Given the description of an element on the screen output the (x, y) to click on. 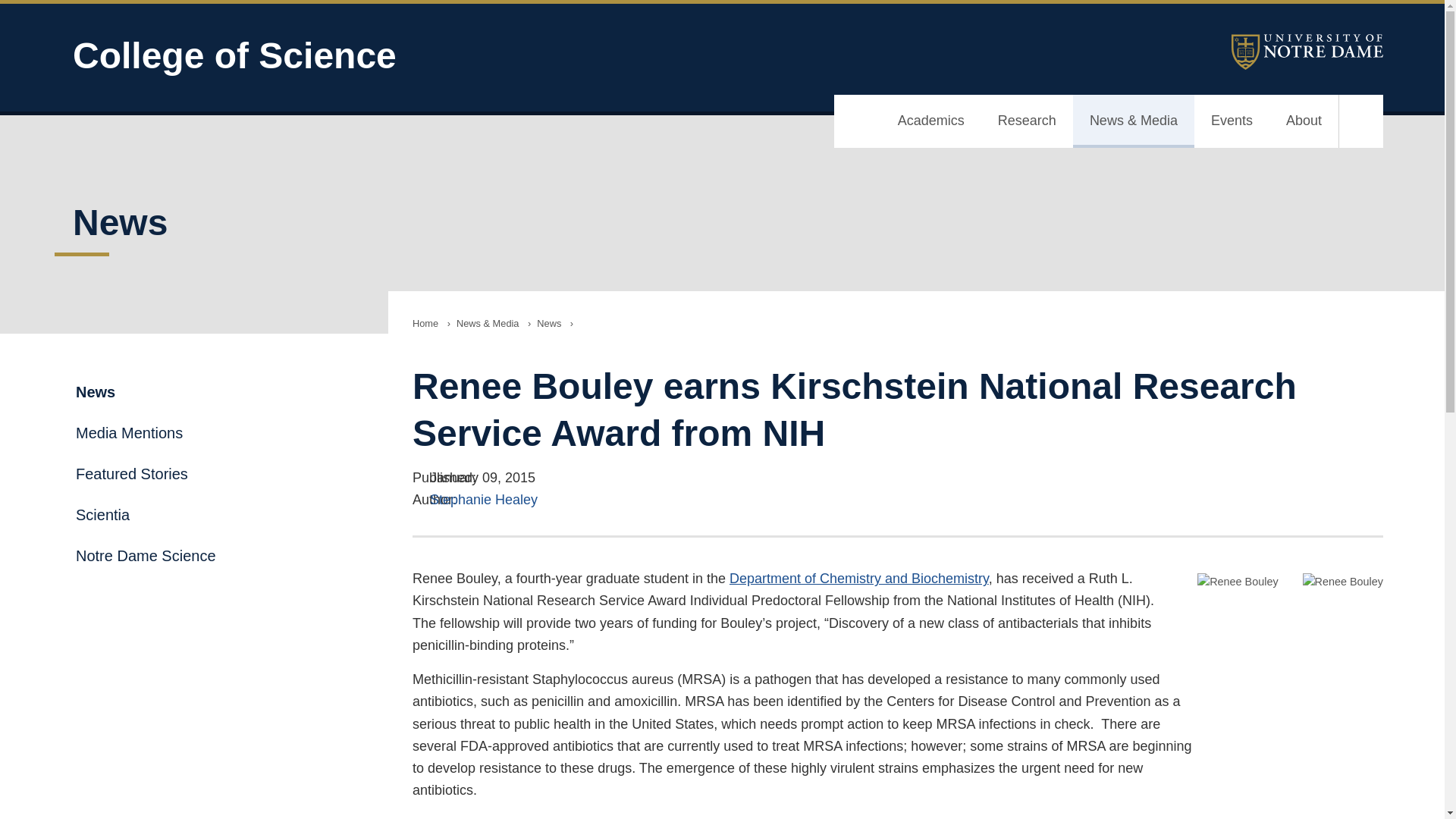
Home (425, 323)
Academics (930, 121)
About (1303, 121)
Department of Chemistry and Biochemistry (858, 578)
Research (1027, 121)
Renee Bouley (1237, 581)
University of Notre Dame (1307, 51)
Events (1231, 121)
College of Science (466, 55)
Stephanie Healey (483, 499)
News (549, 323)
